Given the description of an element on the screen output the (x, y) to click on. 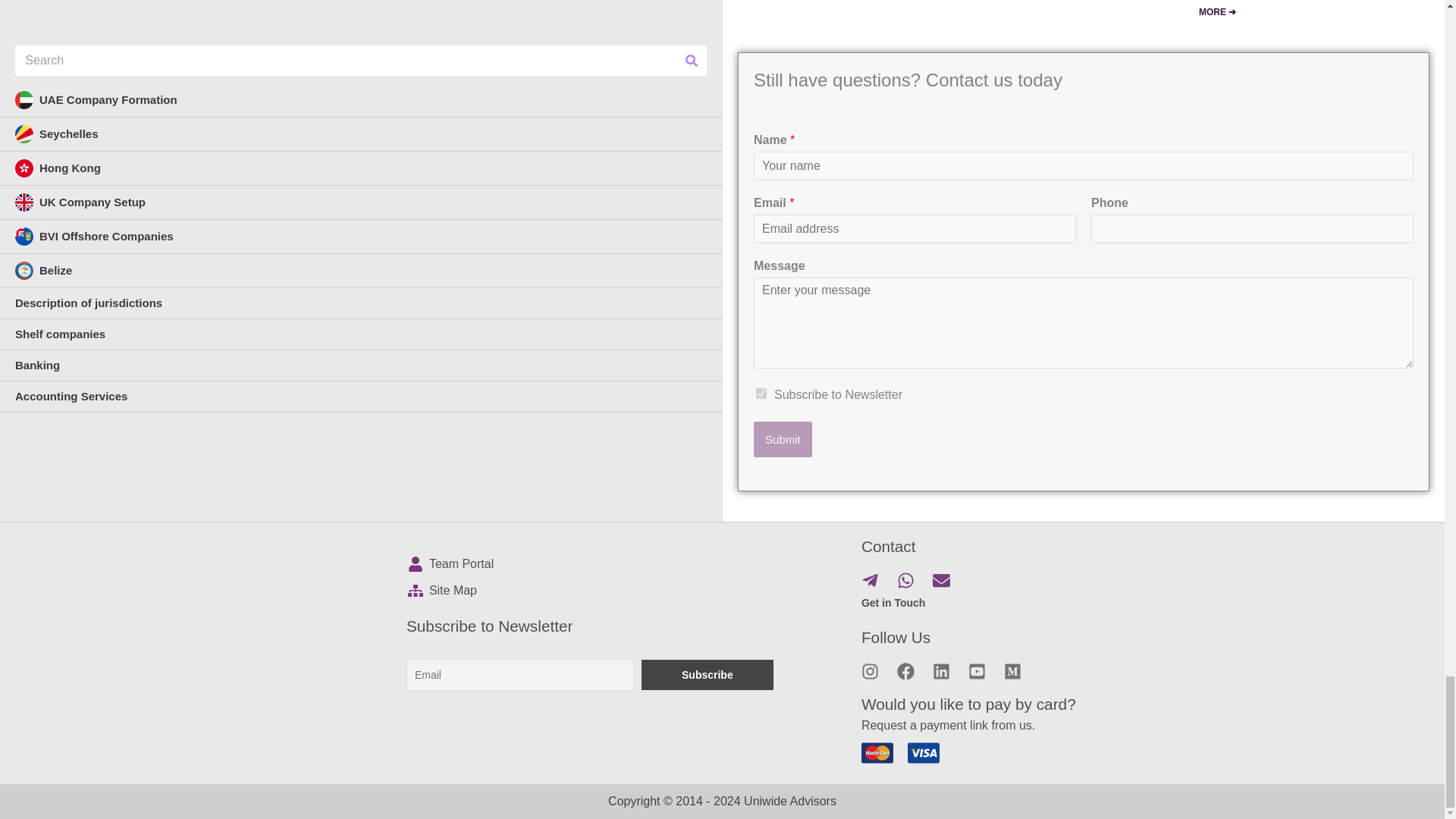
Subscribe to Newsletter (761, 393)
Subscribe (707, 675)
